Given the description of an element on the screen output the (x, y) to click on. 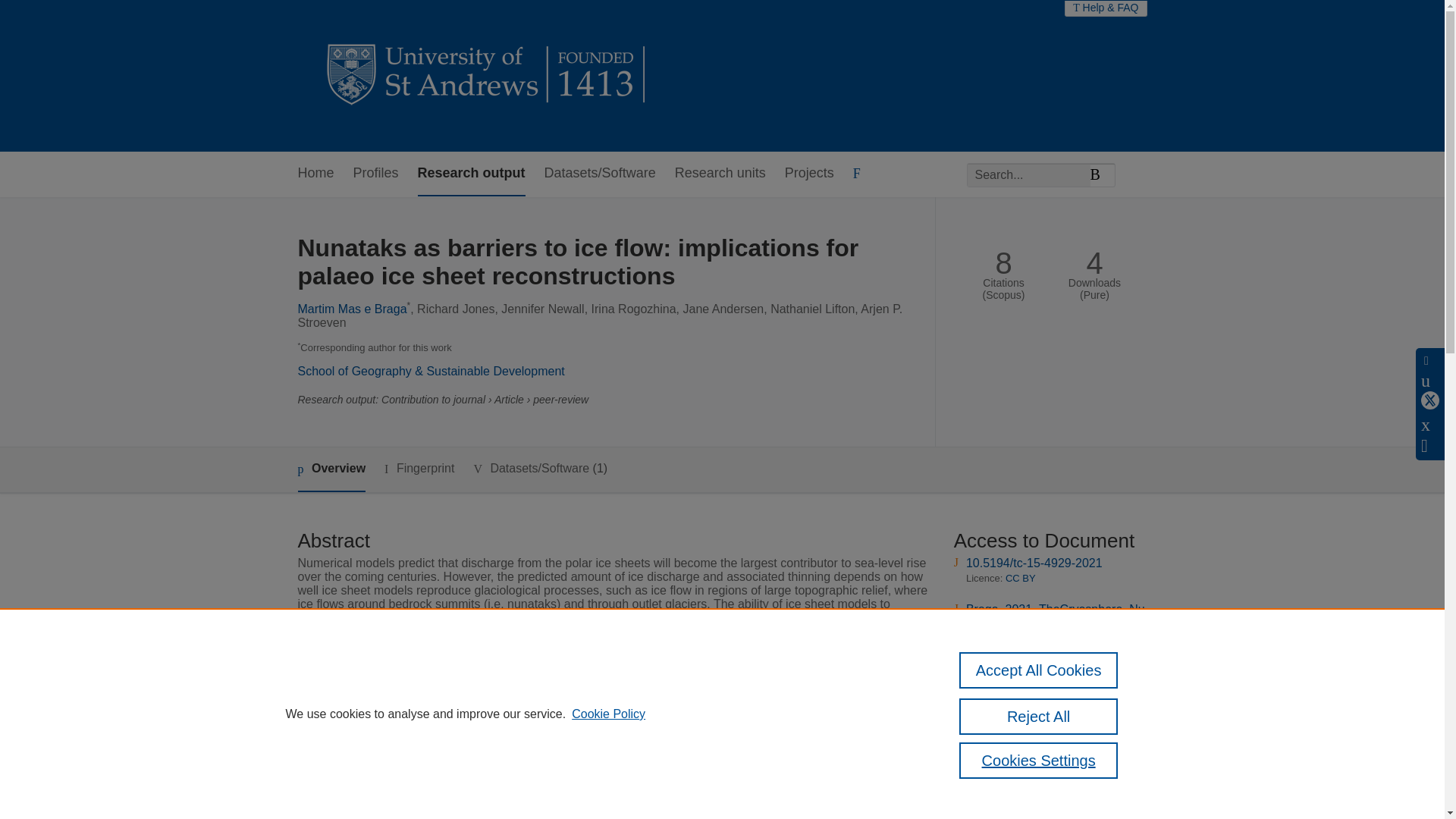
University of St Andrews Research Portal Home (487, 75)
Profiles (375, 173)
Martim Mas e Braga (351, 308)
Projects (809, 173)
Fingerprint (419, 468)
Overview (331, 469)
Research units (720, 173)
CC BY (1020, 577)
Research output (471, 173)
